Given the description of an element on the screen output the (x, y) to click on. 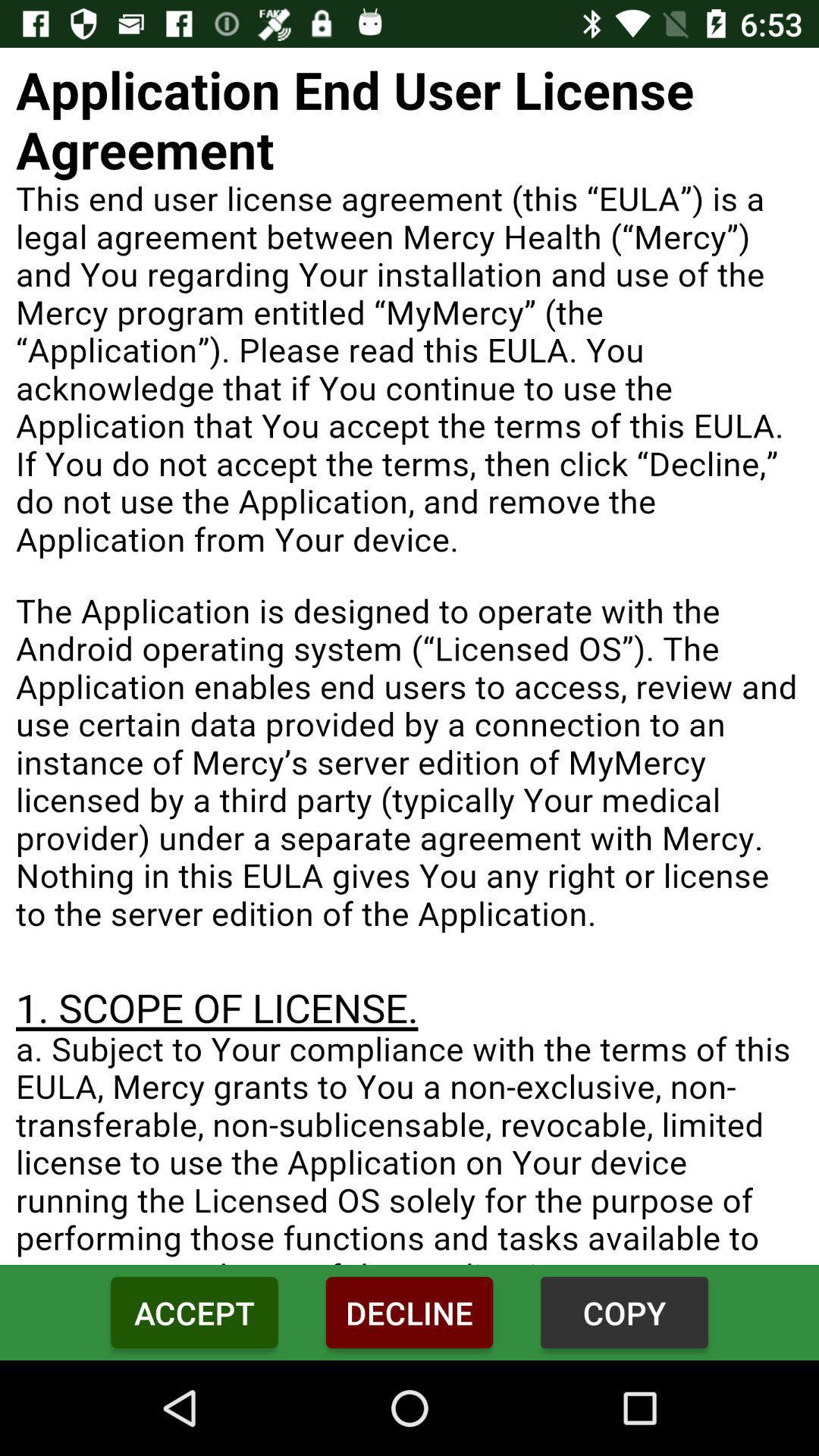
scroll through agreement (409, 655)
